Given the description of an element on the screen output the (x, y) to click on. 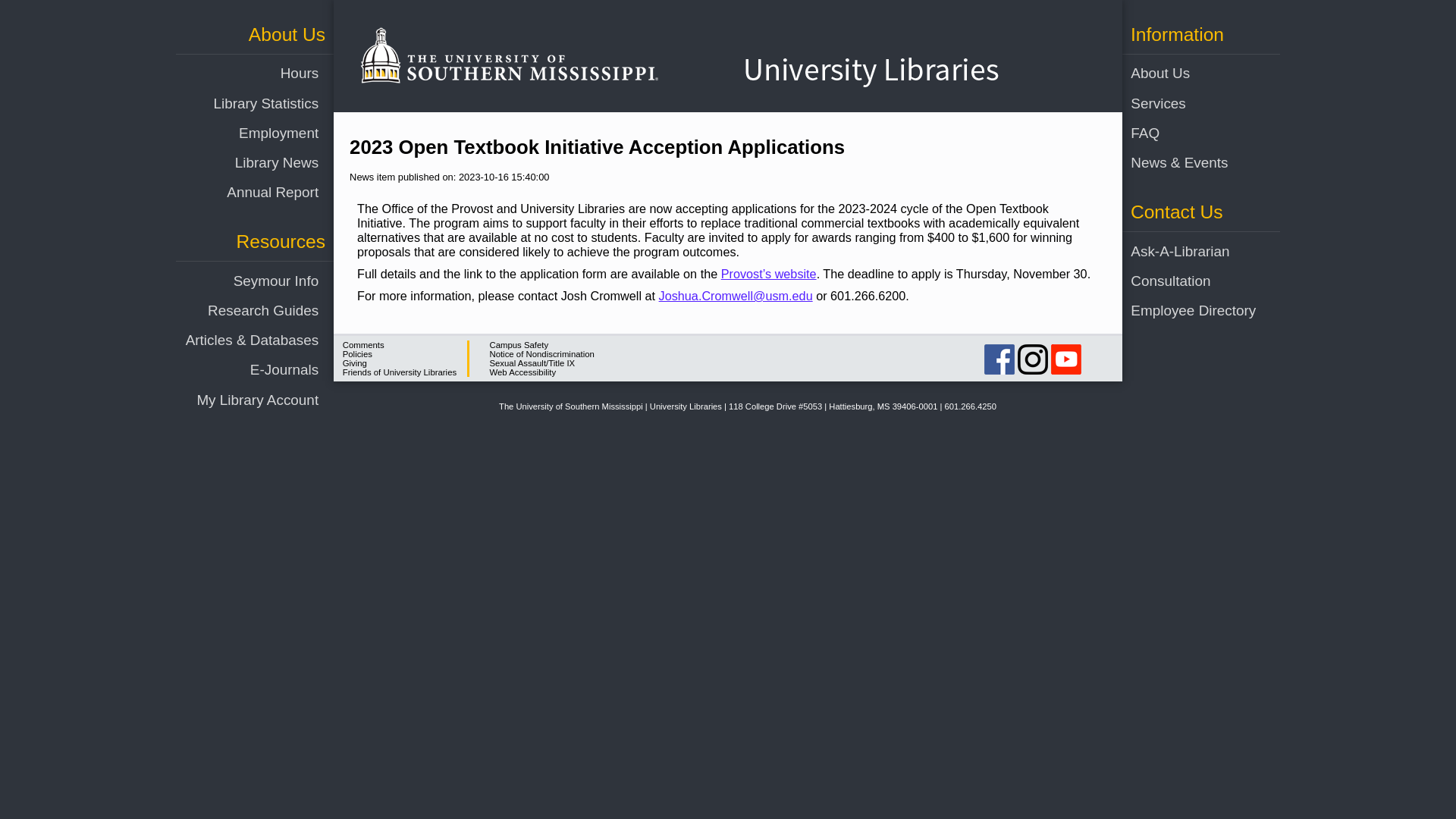
Library Statistics (241, 102)
Hours (241, 72)
Link to Library Policies (357, 353)
FAQ (1186, 132)
My Library Account (241, 399)
Library News (241, 162)
Consultation (1186, 280)
Services (1186, 102)
E-Journals (241, 369)
Link to Comments (363, 344)
